Given the description of an element on the screen output the (x, y) to click on. 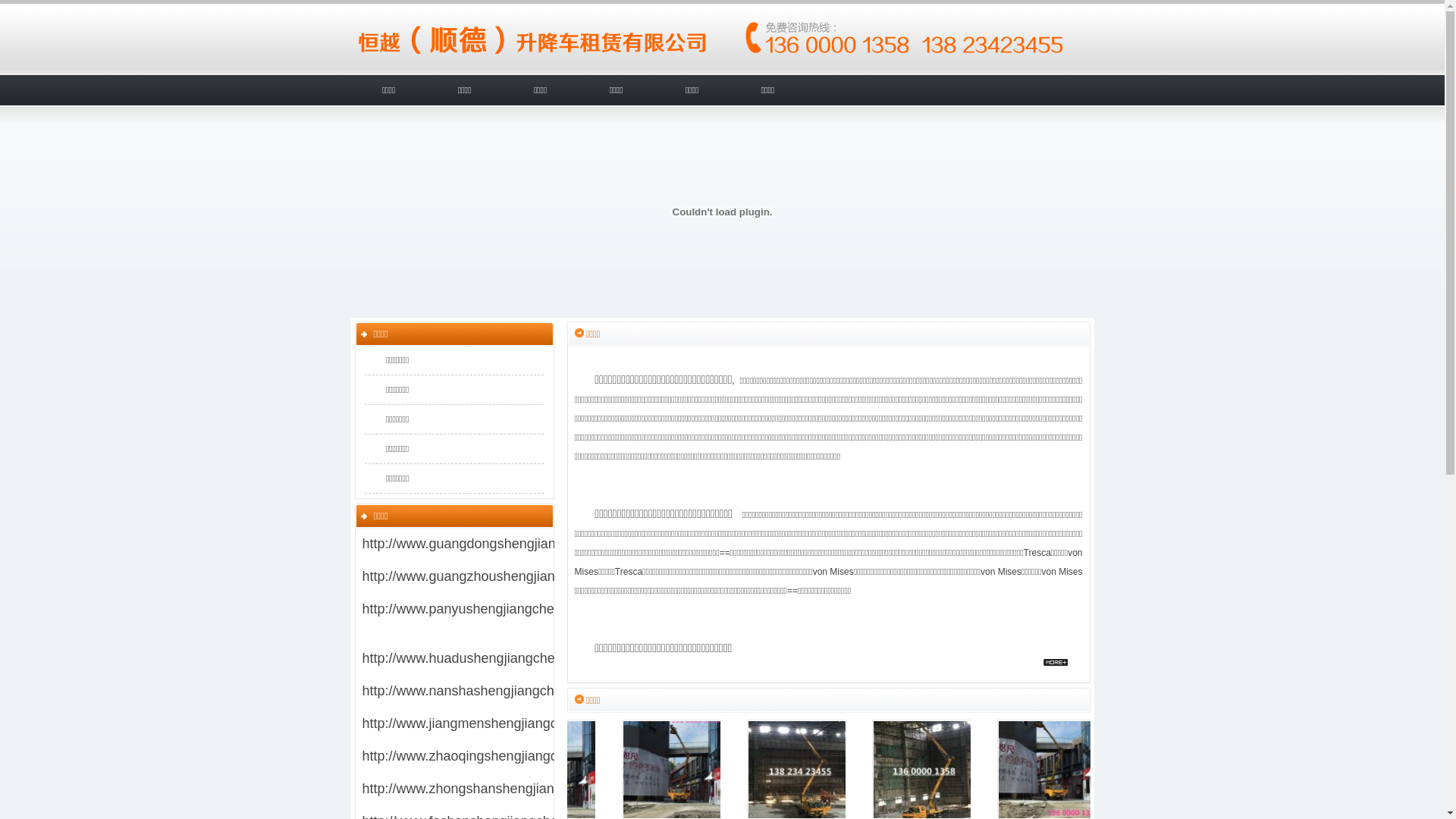
http://www.nanshashengjiangchechuzu.com/ Element type: text (496, 690)
http://www.panyushengjiangchechuzu.com/ Element type: text (493, 608)
http://www.guangdongshengjiangche.com/ Element type: text (490, 543)
http://www.zhongshanshengjiangchechuzu.com/ Element type: text (507, 788)
http://www.zhaoqingshengjiangchechuzu.com/ Element type: text (502, 755)
http://www.huadushengjiangchechuzu.com/ Element type: text (493, 657)
http://www.guangzhoushengjiangchechuzu.com/ Element type: text (508, 575)
http://www.jiangmenshengjiangchechuzu.com/ Element type: text (502, 723)
